Given the description of an element on the screen output the (x, y) to click on. 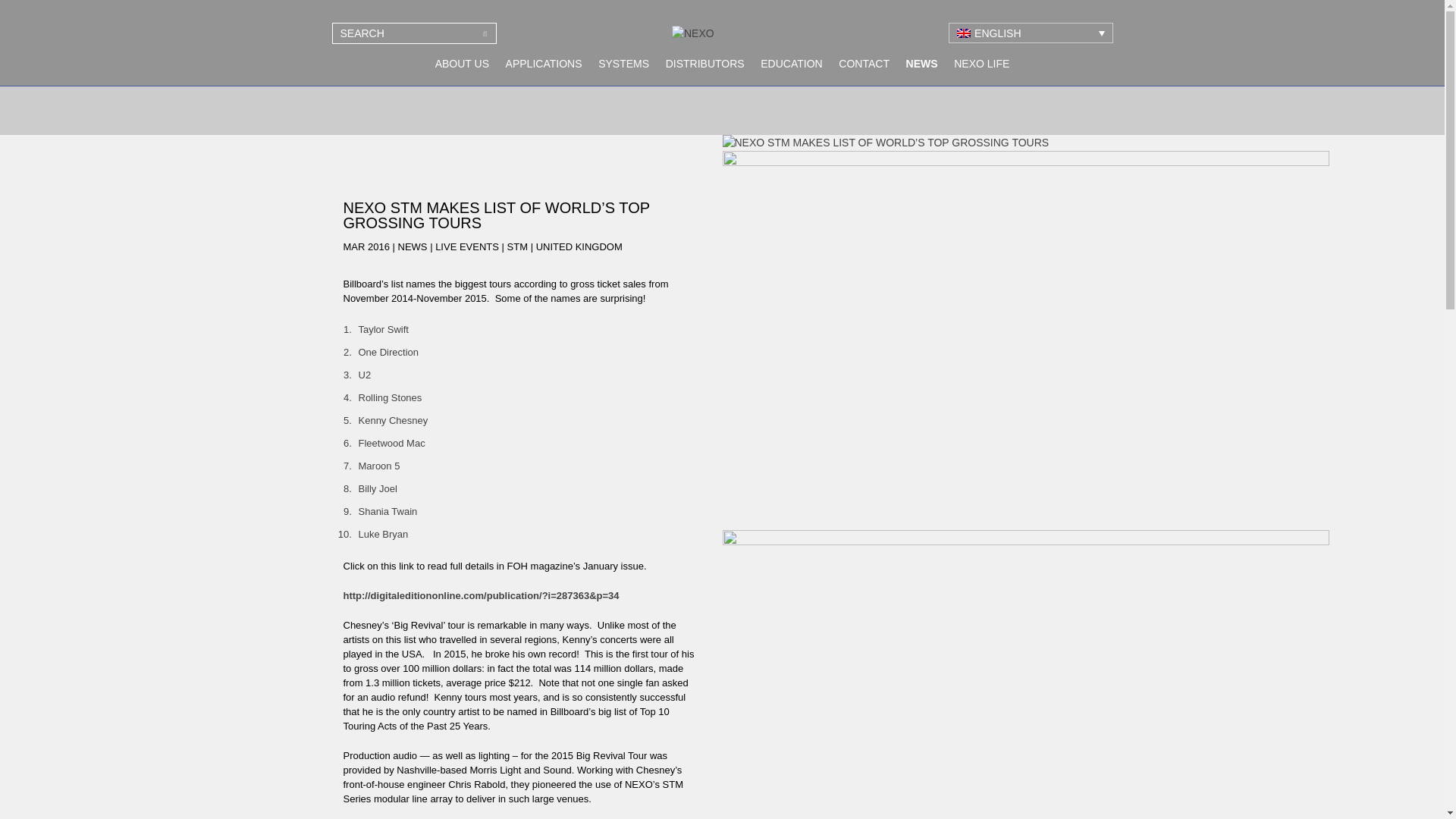
SYSTEMS (623, 64)
Search for: (413, 33)
ABOUT US (462, 64)
ENGLISH (1029, 32)
SEARCH (485, 33)
APPLICATIONS (544, 64)
